Given the description of an element on the screen output the (x, y) to click on. 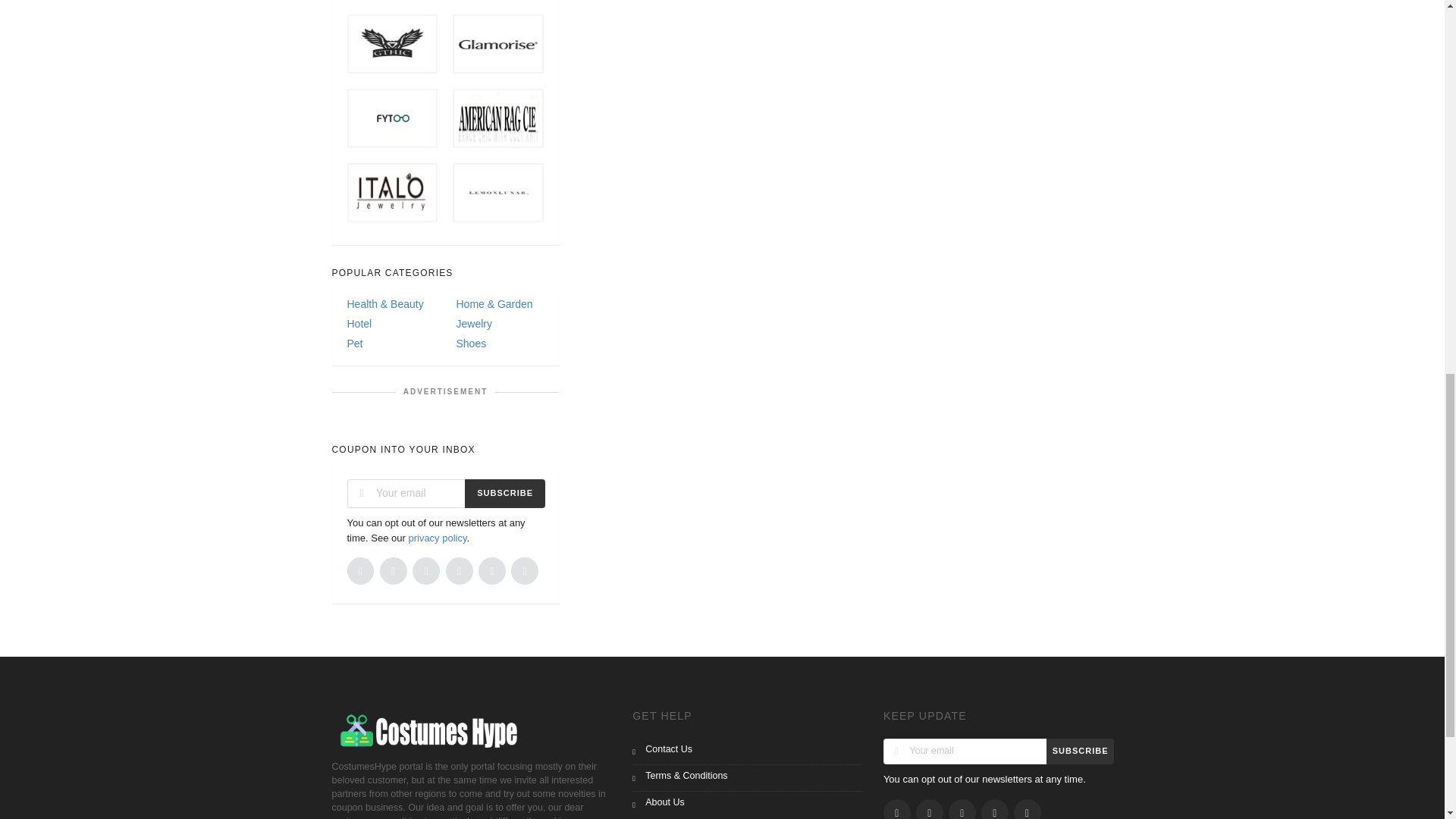
Hotel (391, 324)
fytoo (392, 118)
Jewelry (499, 324)
LemonLunar (497, 192)
